Given the description of an element on the screen output the (x, y) to click on. 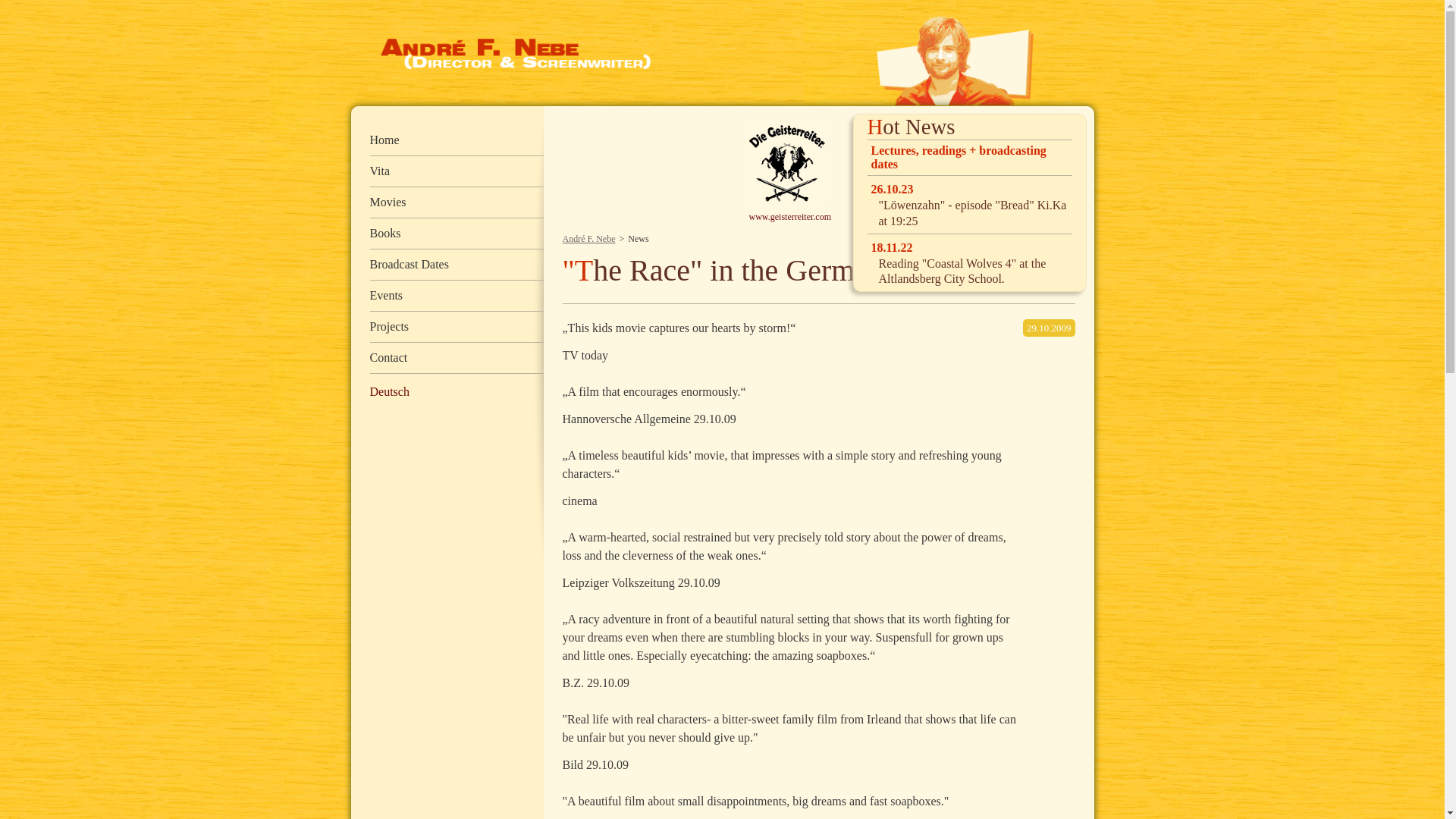
Home (456, 140)
Projects (456, 327)
Events (456, 296)
Contact (456, 358)
www.geisterreiter.com (798, 217)
Movies (456, 202)
Books (456, 233)
Deutsch (389, 391)
Vita (456, 171)
Broadcast Dates (456, 264)
